Given the description of an element on the screen output the (x, y) to click on. 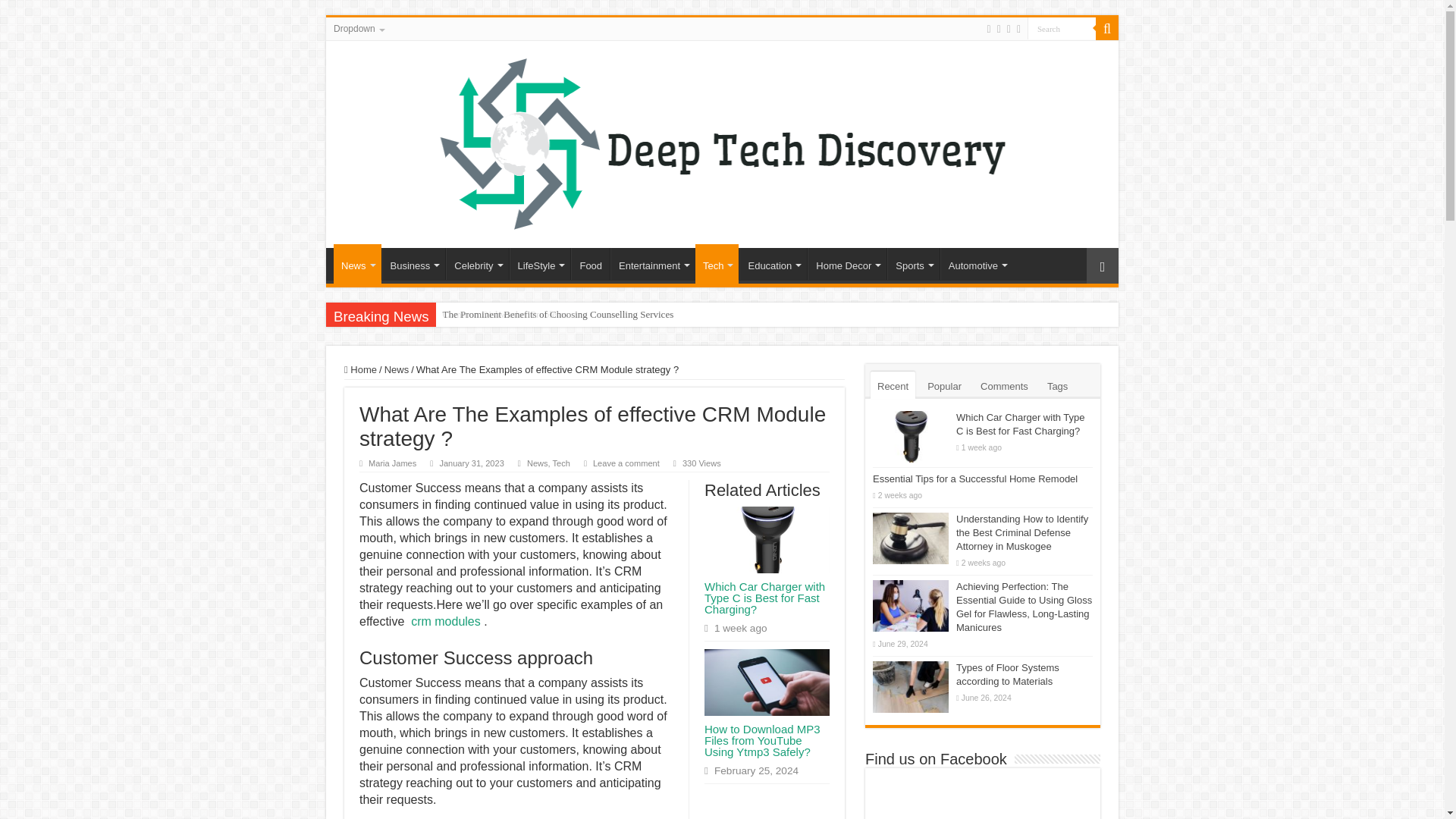
Search (1061, 28)
Deep Tech Discovery (721, 141)
Search (1061, 28)
News (357, 263)
Dropdown (358, 28)
Search (1061, 28)
Business (413, 264)
Search (1107, 28)
